Given the description of an element on the screen output the (x, y) to click on. 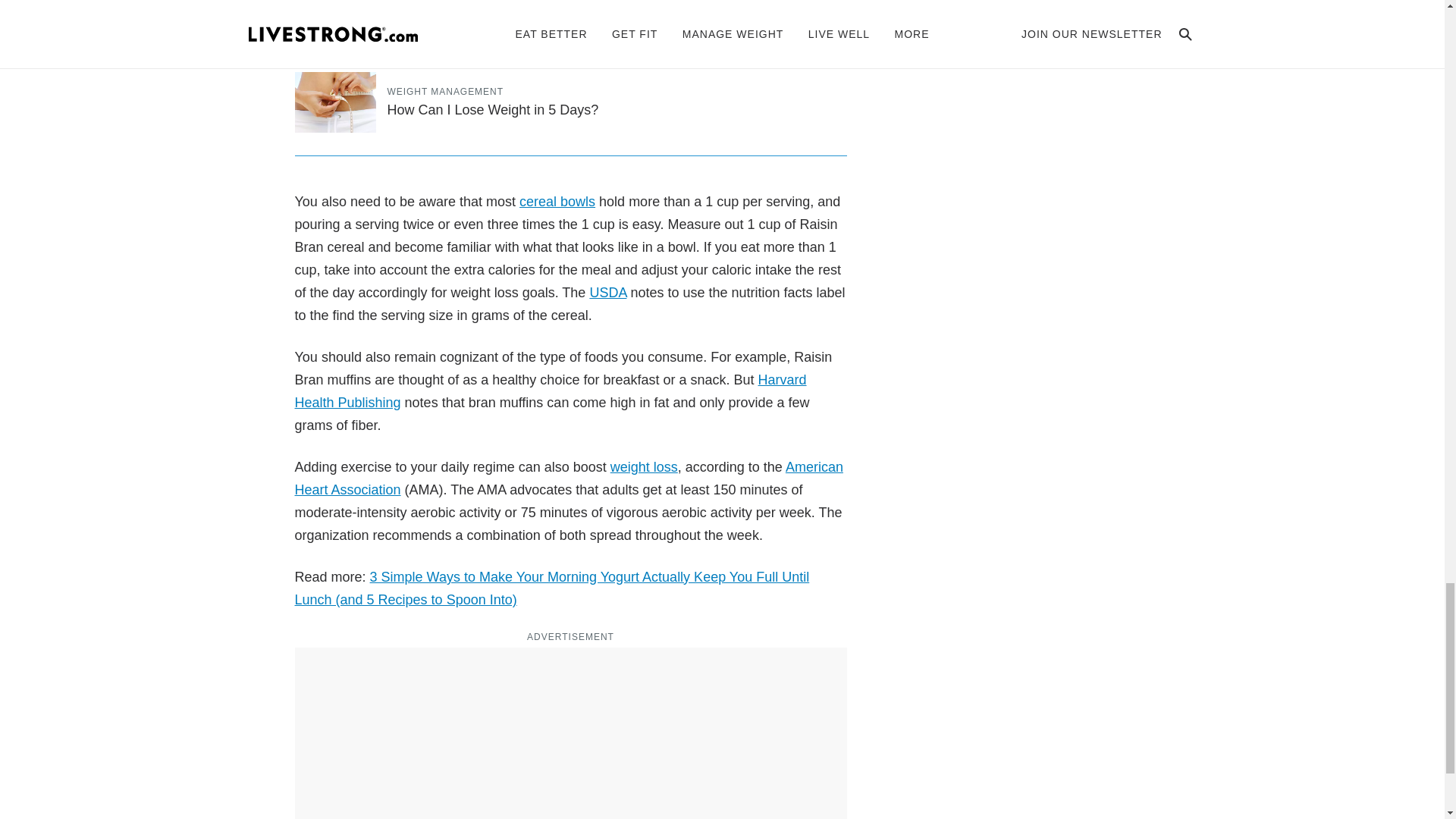
USDA (607, 292)
5 Reasons You Shouldn't Try the Carnivore Diet (531, 33)
cereal bowls (557, 201)
How Can I Lose Weight in 5 Days? (492, 109)
Harvard Health Publishing (550, 391)
